Given the description of an element on the screen output the (x, y) to click on. 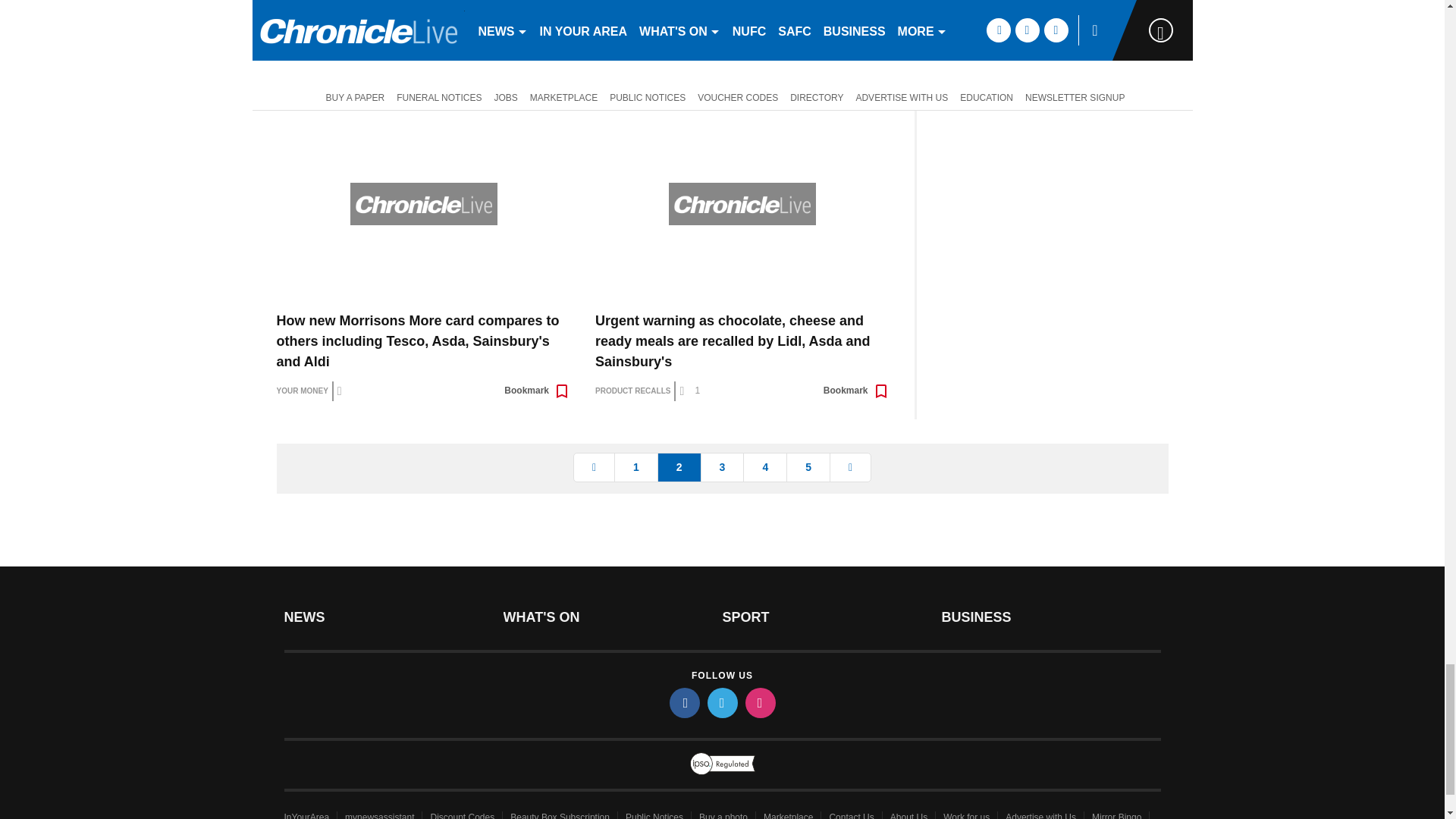
facebook (683, 702)
instagram (759, 702)
twitter (721, 702)
